Given the description of an element on the screen output the (x, y) to click on. 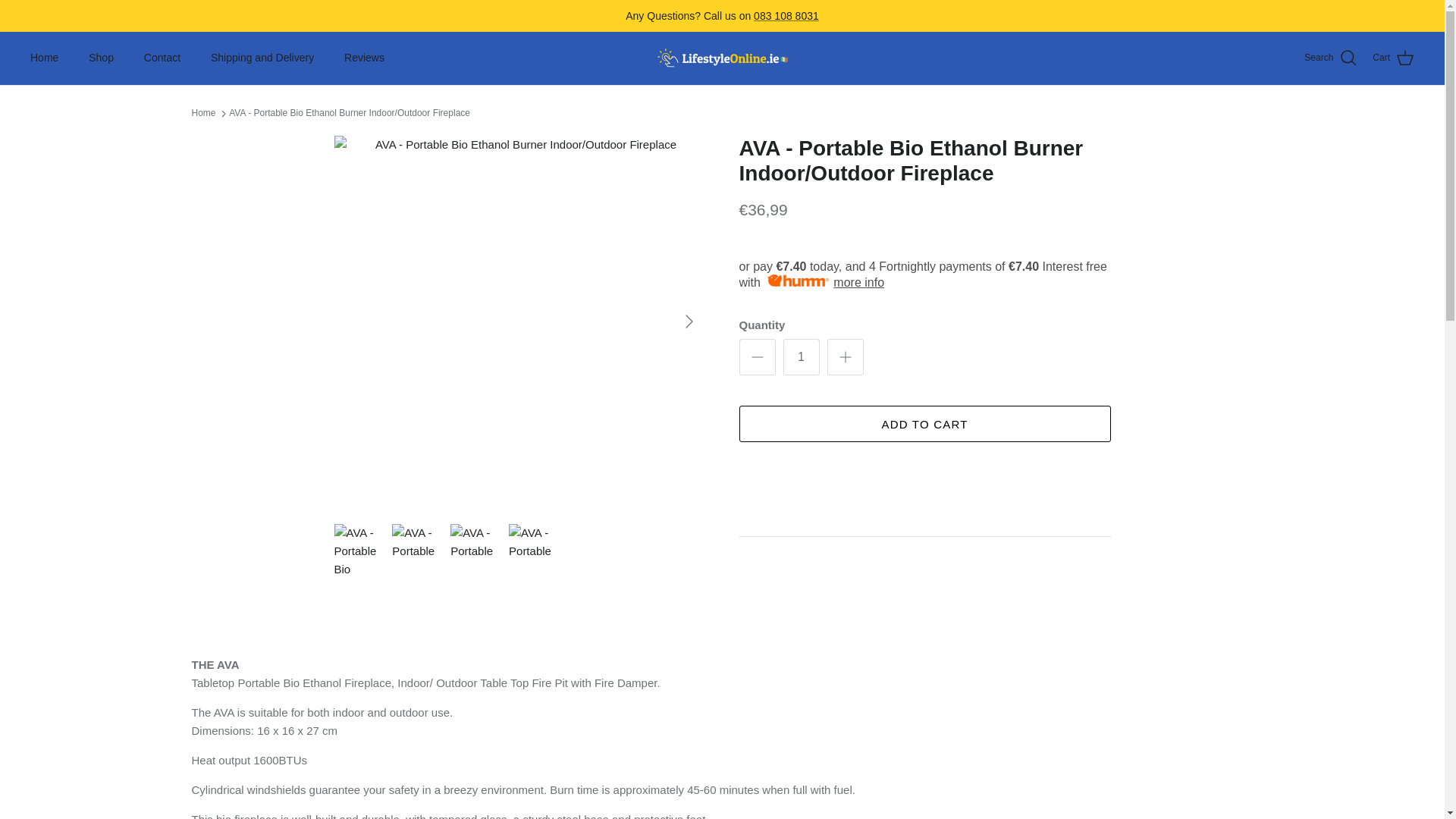
Lifestyle Online Ireland (721, 57)
tel:00353831088031 (786, 15)
RIGHT (688, 321)
Home (43, 57)
Search (1330, 57)
Shipping and Delivery (261, 57)
083 108 8031 (786, 15)
Reviews (363, 57)
1 (800, 357)
Plus (844, 357)
